Given the description of an element on the screen output the (x, y) to click on. 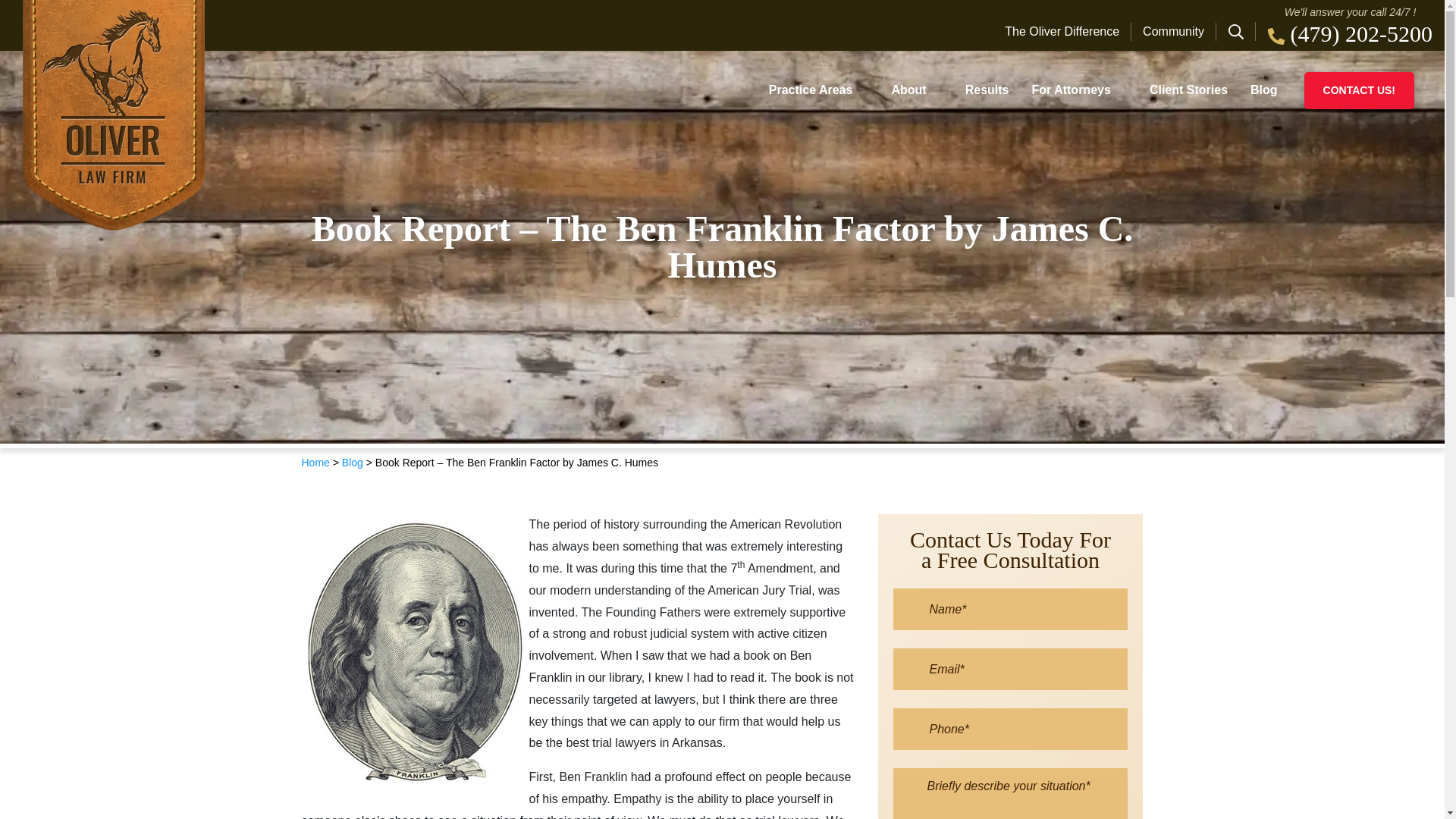
Client Stories (1188, 89)
Community (1173, 31)
CONTACT US! (1358, 89)
The Oliver Difference (1067, 31)
